Given the description of an element on the screen output the (x, y) to click on. 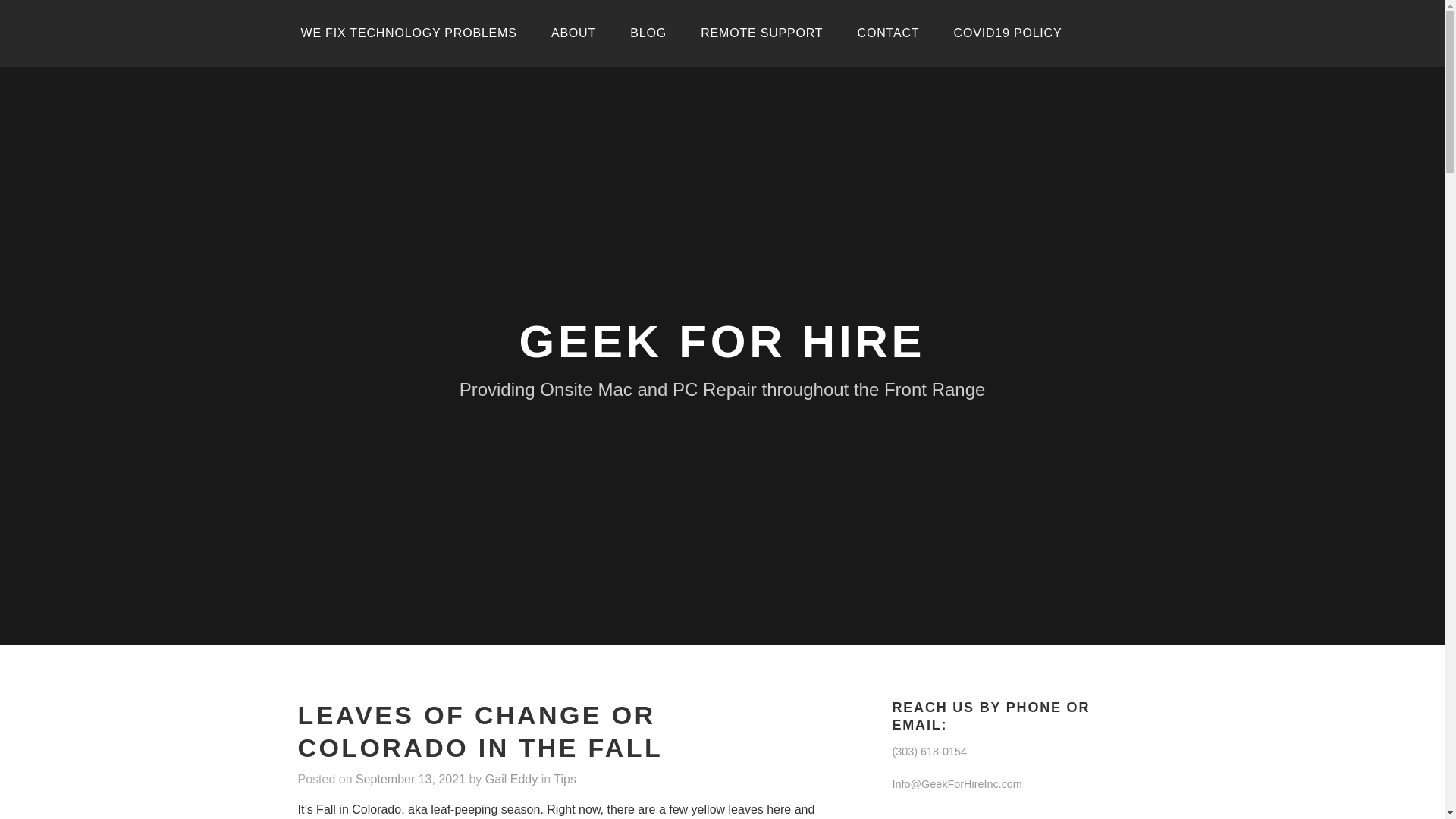
GEEK FOR HIRE (722, 341)
CONTACT (888, 33)
WE FIX TECHNOLOGY PROBLEMS (408, 33)
REMOTE SUPPORT (761, 33)
Tips (564, 779)
BLOG (647, 33)
September 13, 2021 (410, 779)
ABOUT (573, 33)
COVID19 POLICY (1008, 33)
Gail Eddy (510, 779)
